Given the description of an element on the screen output the (x, y) to click on. 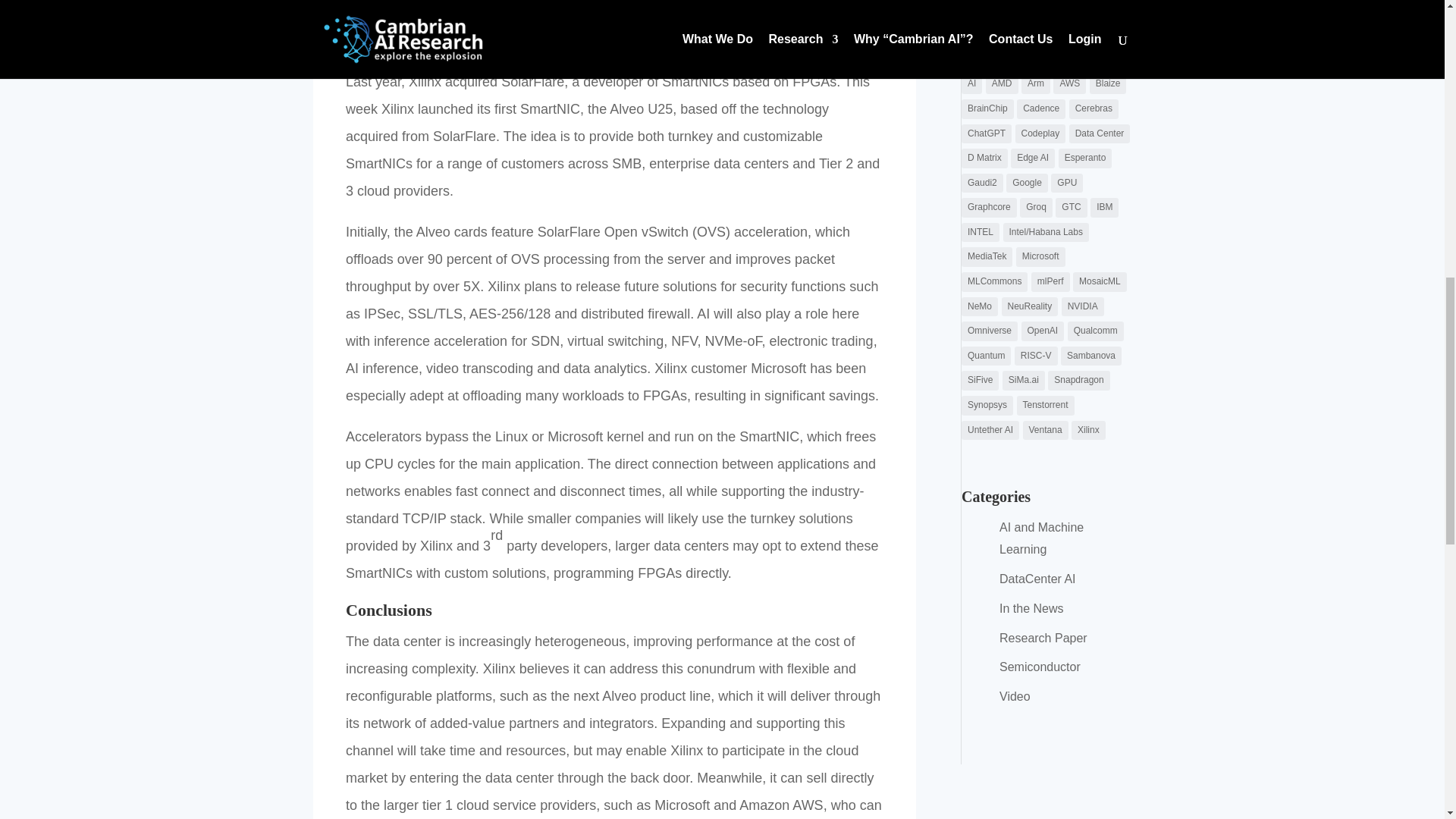
AWS (1069, 84)
GPU (1067, 183)
ChatGPT (985, 134)
AMD (1001, 84)
Edge AI (1032, 158)
Cerebras (1093, 108)
Blaize (1107, 84)
Data Center (1099, 134)
BrainChip (986, 108)
Codeplay (1039, 134)
